Given the description of an element on the screen output the (x, y) to click on. 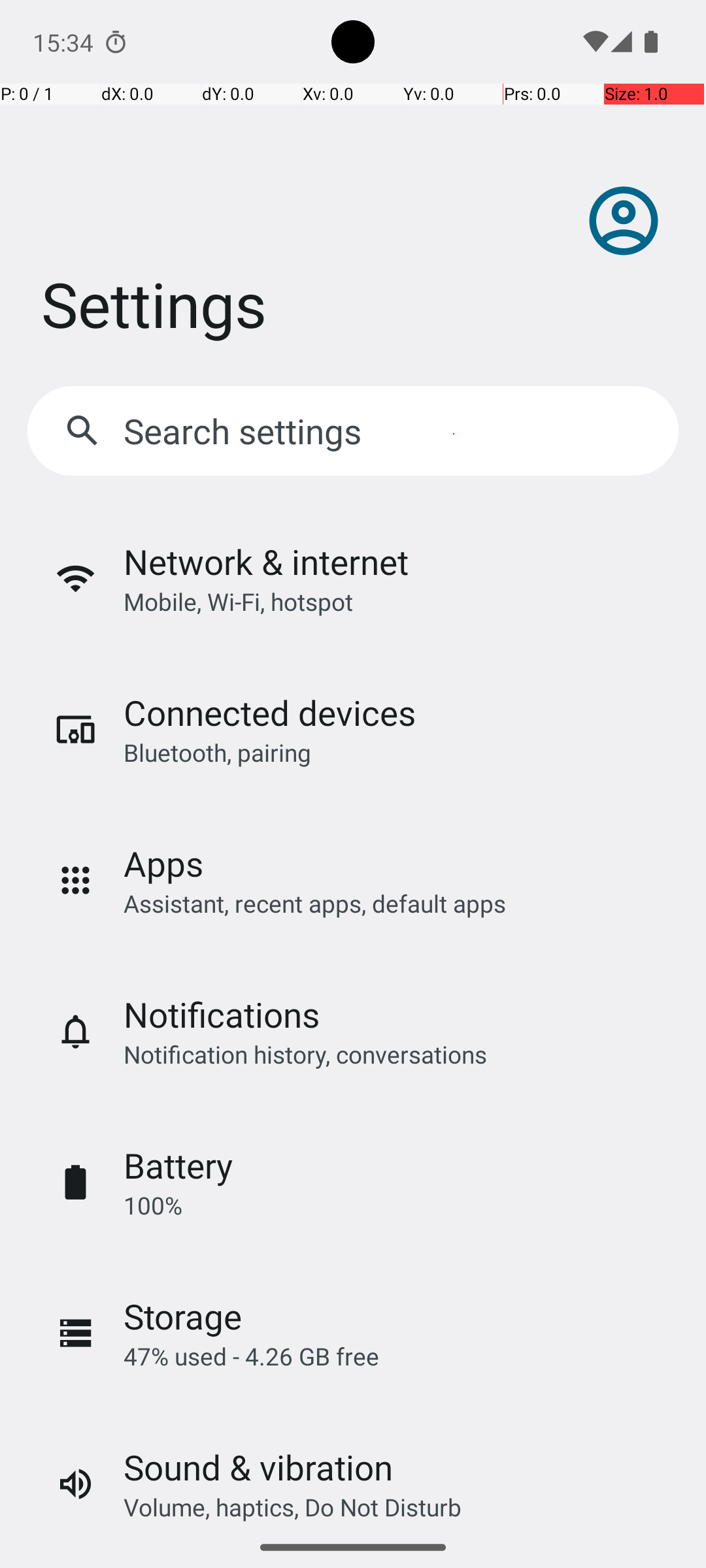
47% used - 4.26 GB free Element type: android.widget.TextView (251, 1355)
